Given the description of an element on the screen output the (x, y) to click on. 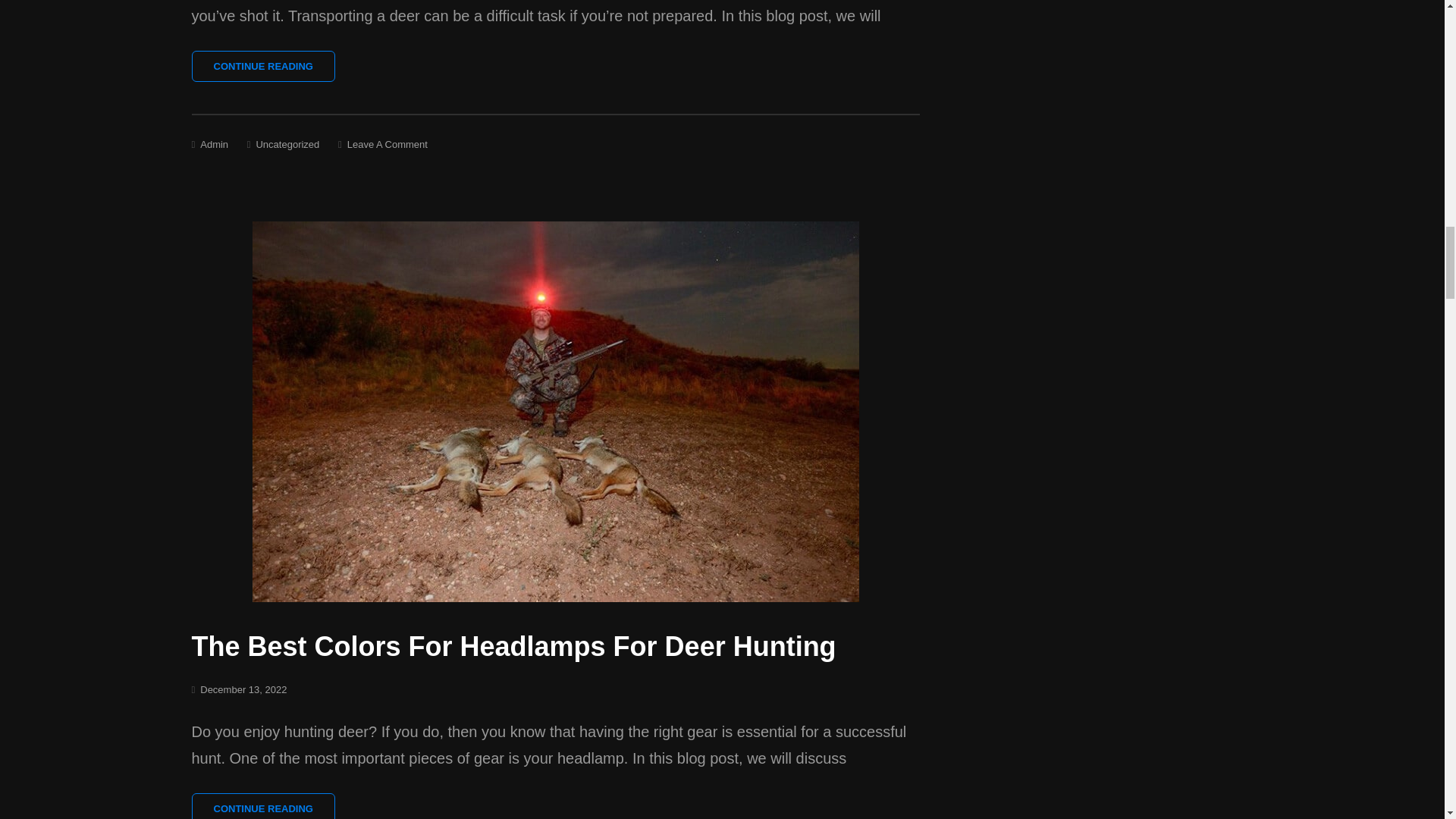
Uncategorized (287, 143)
The Best Colors For Headlamps For Deer Hunting (512, 645)
Leave A Comment (387, 143)
Admin (214, 143)
December 13, 2022 (243, 689)
